Given the description of an element on the screen output the (x, y) to click on. 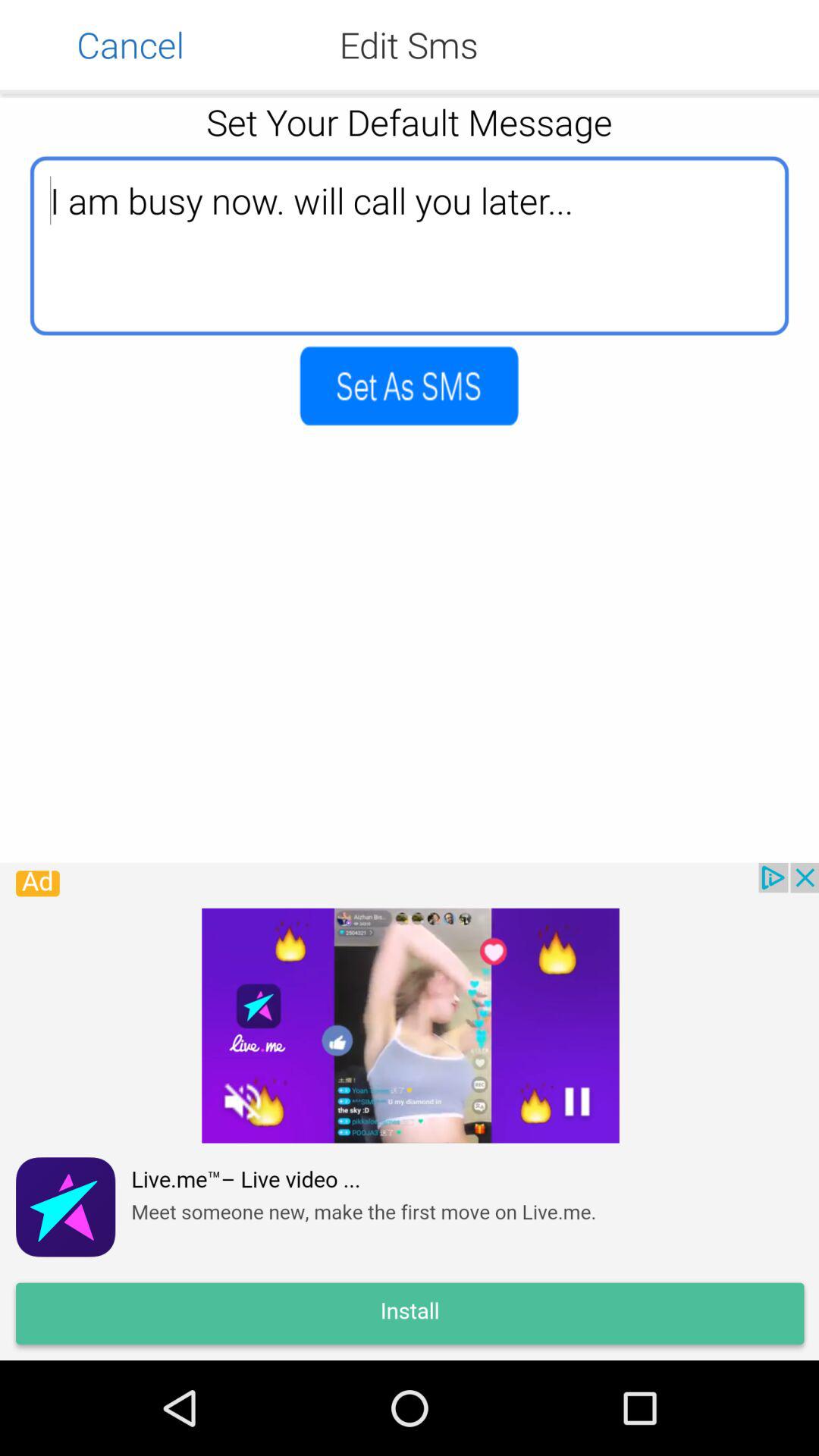
message page (408, 385)
